Given the description of an element on the screen output the (x, y) to click on. 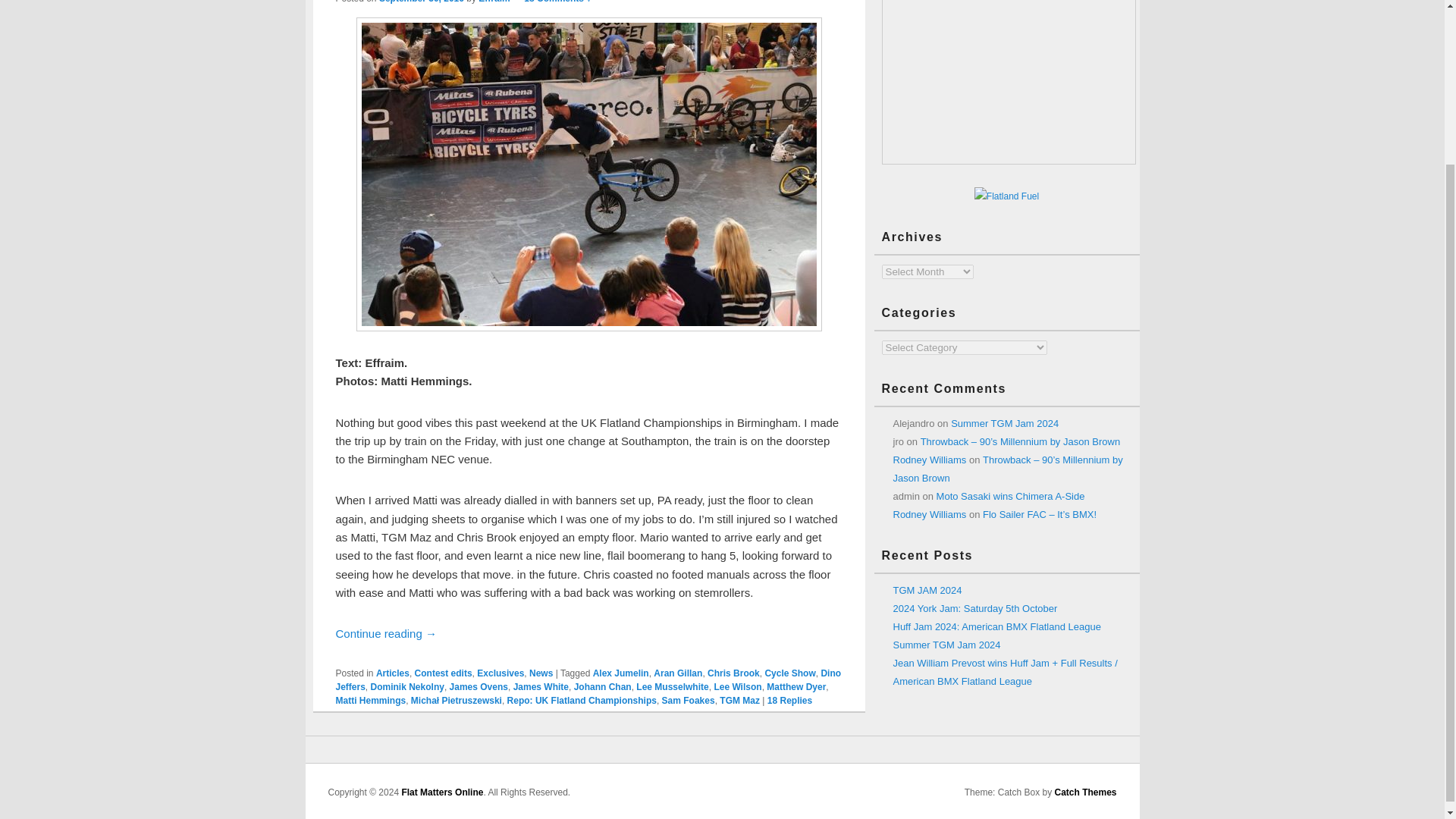
Lee Wilson (737, 686)
Chris Brook (733, 673)
Cycle Show (789, 673)
James Ovens (478, 686)
Repo: UK Flatland Championships (581, 700)
Contest edits (442, 673)
Exclusives (500, 673)
Alex Jumelin (620, 673)
James White (541, 686)
Catch Themes (1085, 792)
Articles (392, 673)
News (541, 673)
Dino Jeffers (587, 680)
Dominik Nekolny (407, 686)
View all posts by Effraim (494, 2)
